Given the description of an element on the screen output the (x, y) to click on. 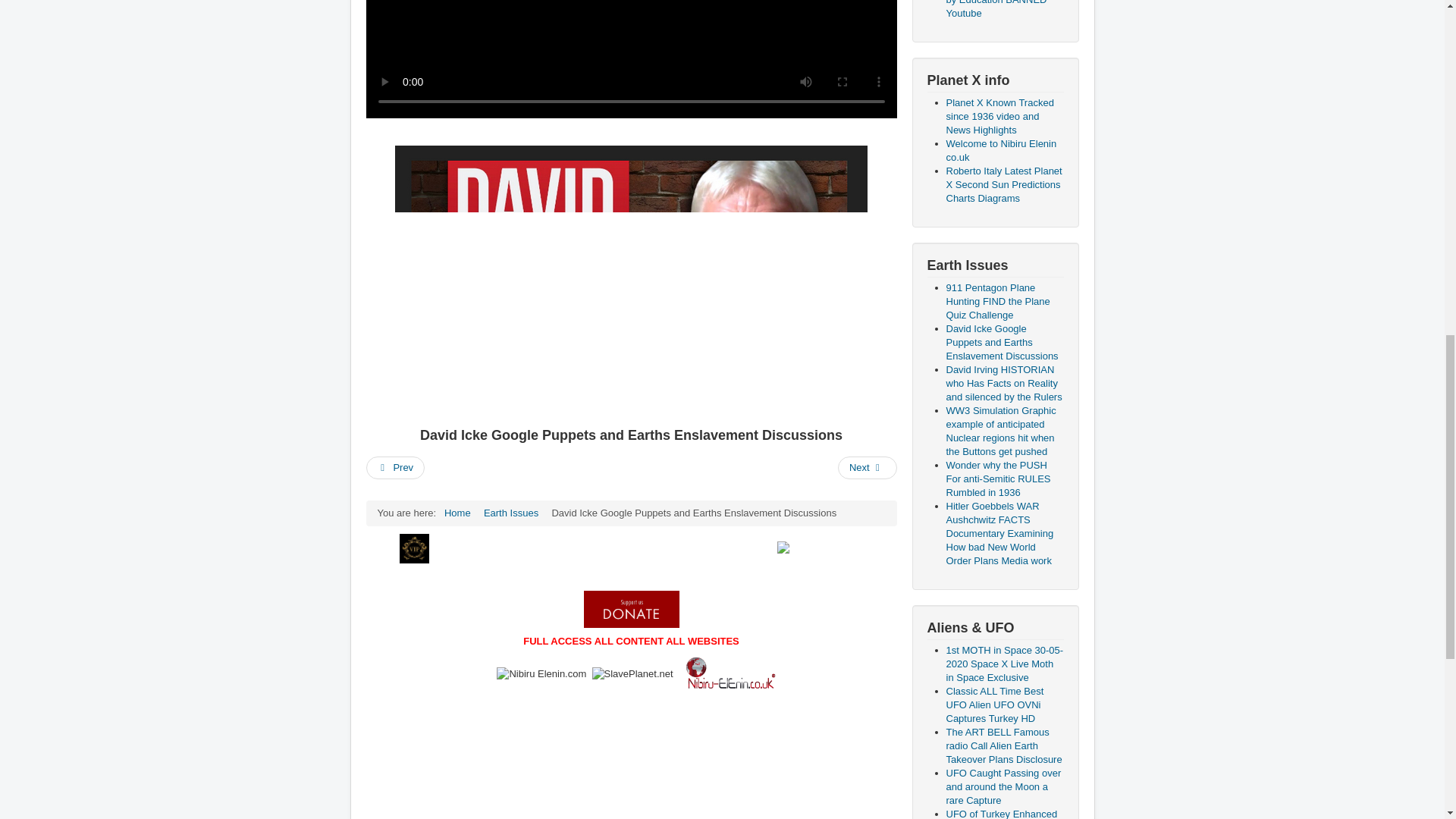
David Icke Google Puppets and Earths Enslavement Discussions (630, 281)
VIP Membership (413, 548)
Nibiru Elenin Co.uk (730, 674)
Planet X Known Tracked since 1936 video and News Highlights (1000, 116)
Earth Issues (510, 512)
Prev (395, 467)
Learn More (663, 547)
Learn More On VIP (820, 547)
Nibiru-Elenin.com (541, 673)
